Given the description of an element on the screen output the (x, y) to click on. 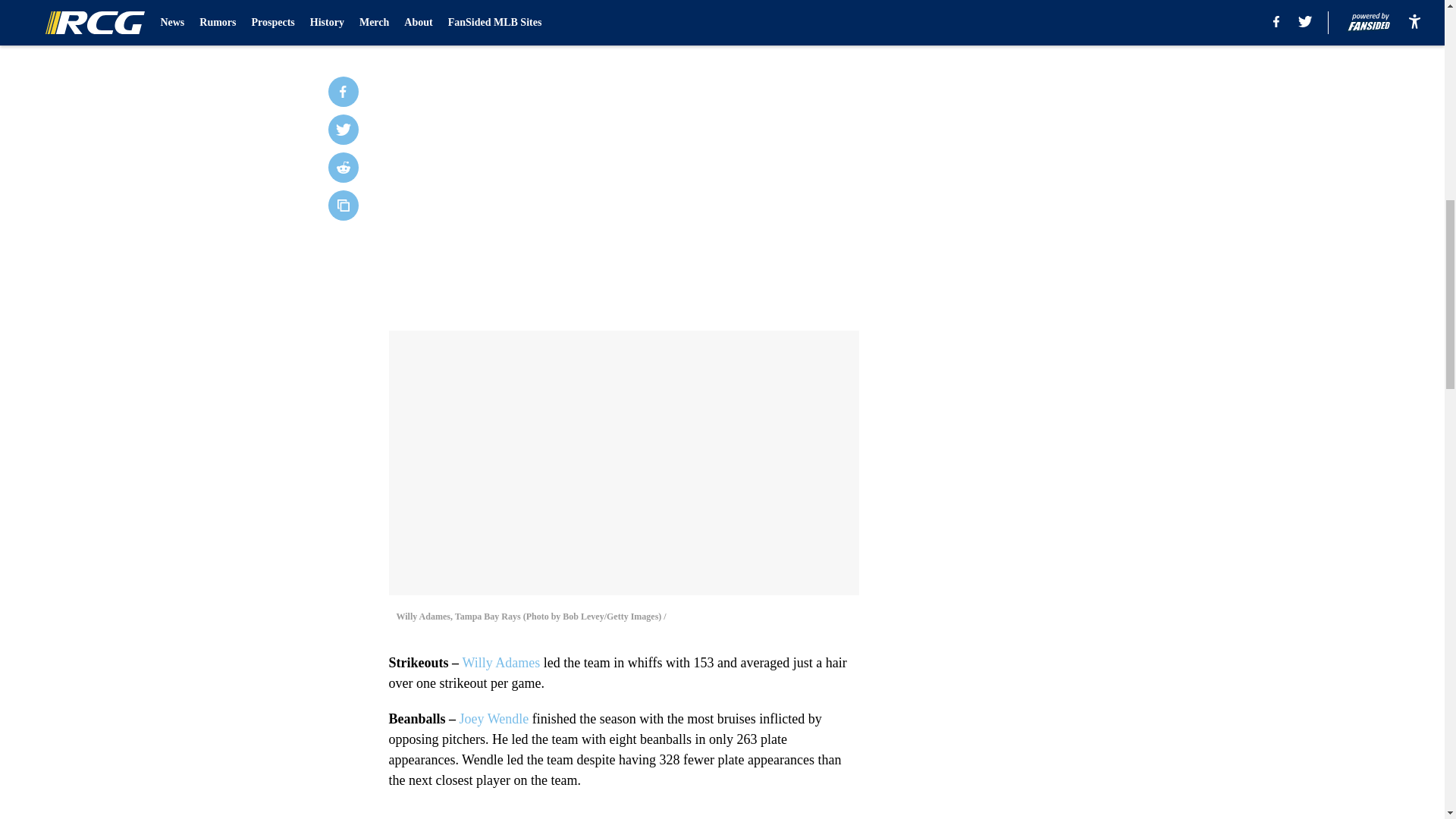
Joey Wendle (494, 718)
Prev (433, 20)
Next (813, 20)
Willy Adames (501, 662)
